Given the description of an element on the screen output the (x, y) to click on. 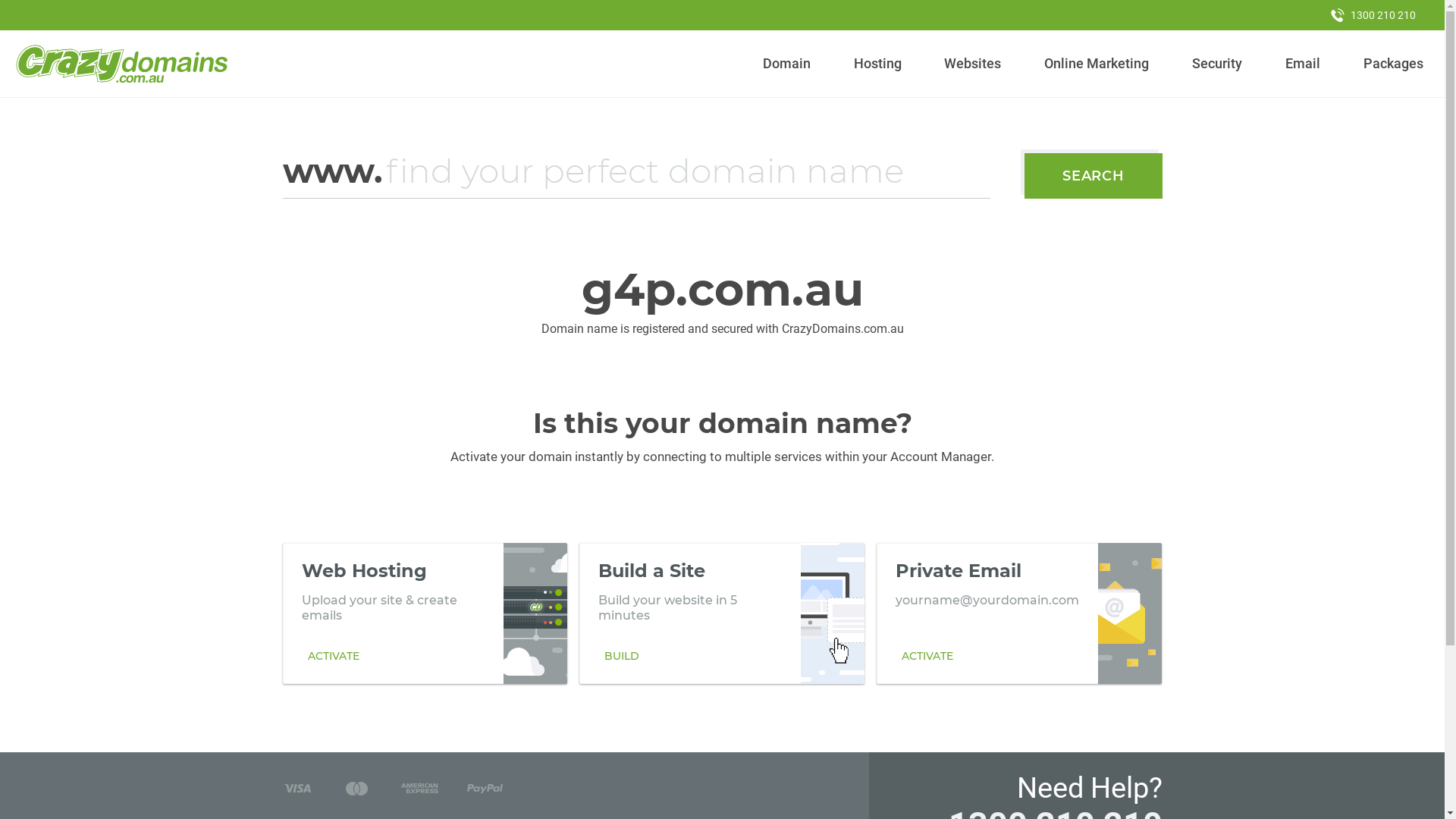
Private Email
yourname@yourdomain.com
ACTIVATE Element type: text (1018, 613)
Domain Element type: text (786, 63)
1300 210 210 Element type: text (1373, 15)
Security Element type: text (1217, 63)
Websites Element type: text (972, 63)
Hosting Element type: text (877, 63)
Email Element type: text (1302, 63)
SEARCH Element type: text (1092, 175)
Build a Site
Build your website in 5 minutes
BUILD Element type: text (721, 613)
Packages Element type: text (1392, 63)
Web Hosting
Upload your site & create emails
ACTIVATE Element type: text (424, 613)
Online Marketing Element type: text (1096, 63)
